Given the description of an element on the screen output the (x, y) to click on. 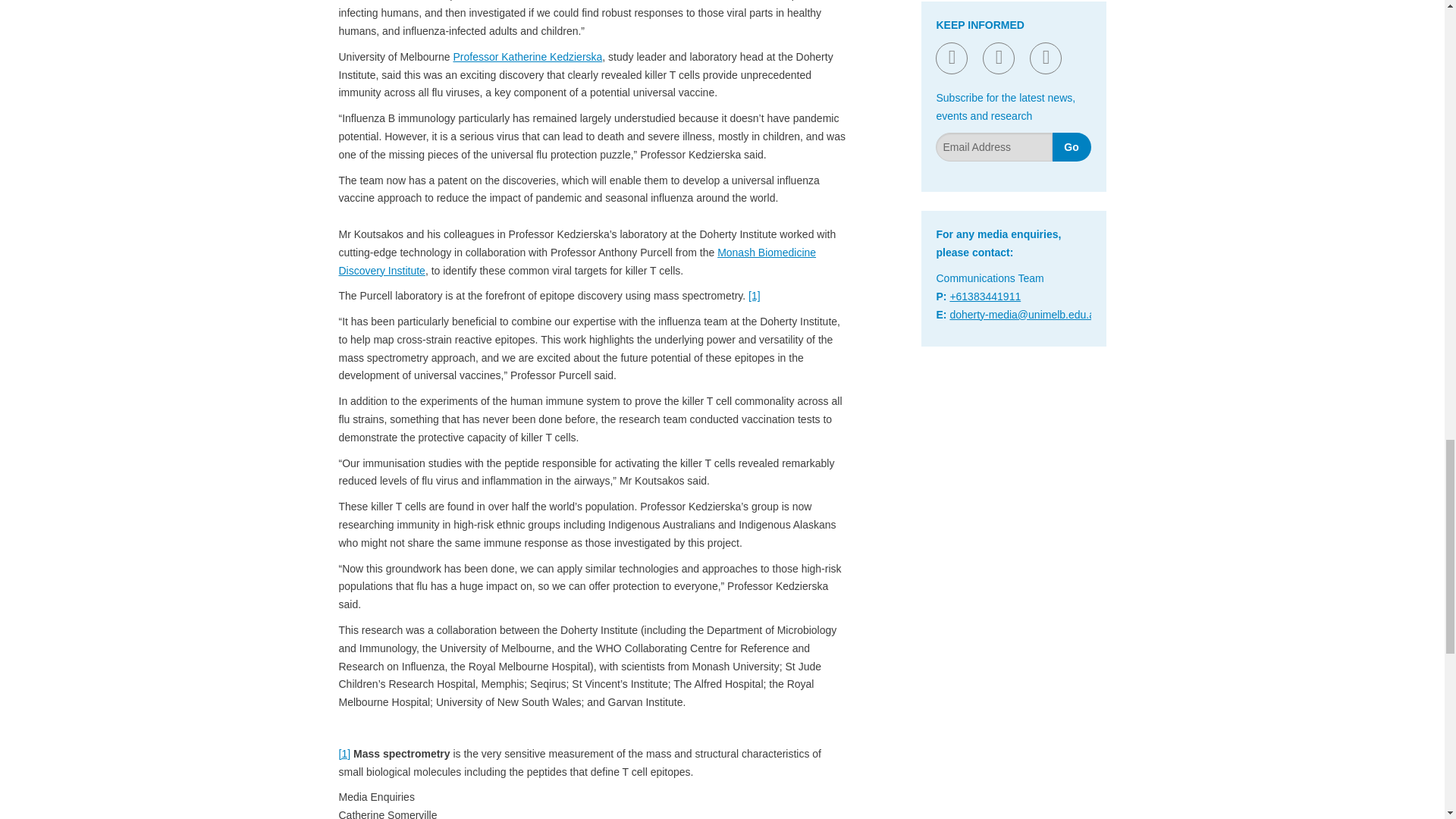
Go (1071, 146)
